Given the description of an element on the screen output the (x, y) to click on. 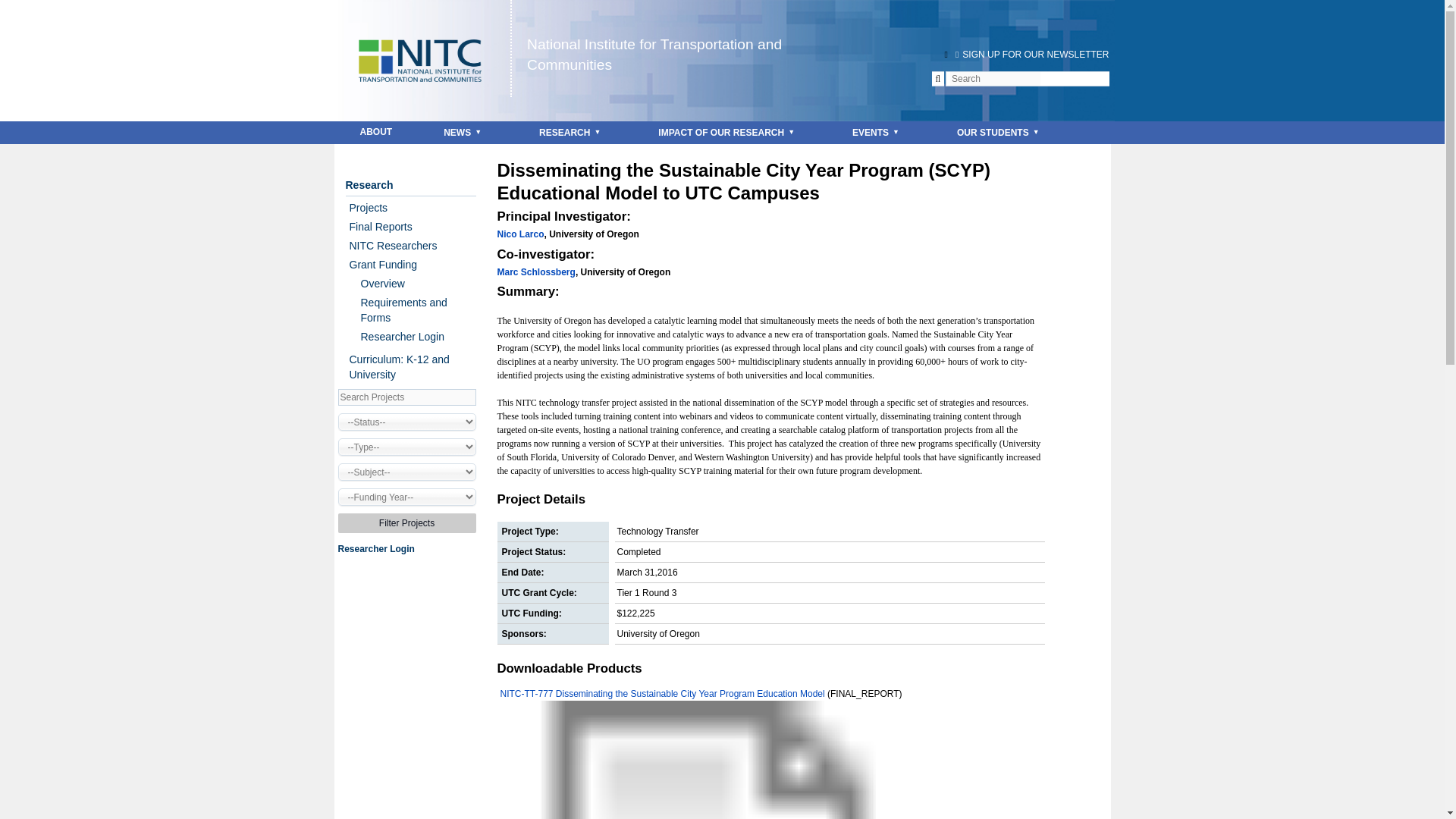
NEWS (465, 132)
Search (28, 9)
IMPACT OF OUR RESEARCH (729, 132)
EVENTS (879, 132)
Home (422, 40)
Enter the terms you wish to search for. (995, 78)
ABOUT (376, 132)
National Institute for Transportation and Communities (654, 54)
Home (654, 54)
RESEARCH (572, 132)
